Given the description of an element on the screen output the (x, y) to click on. 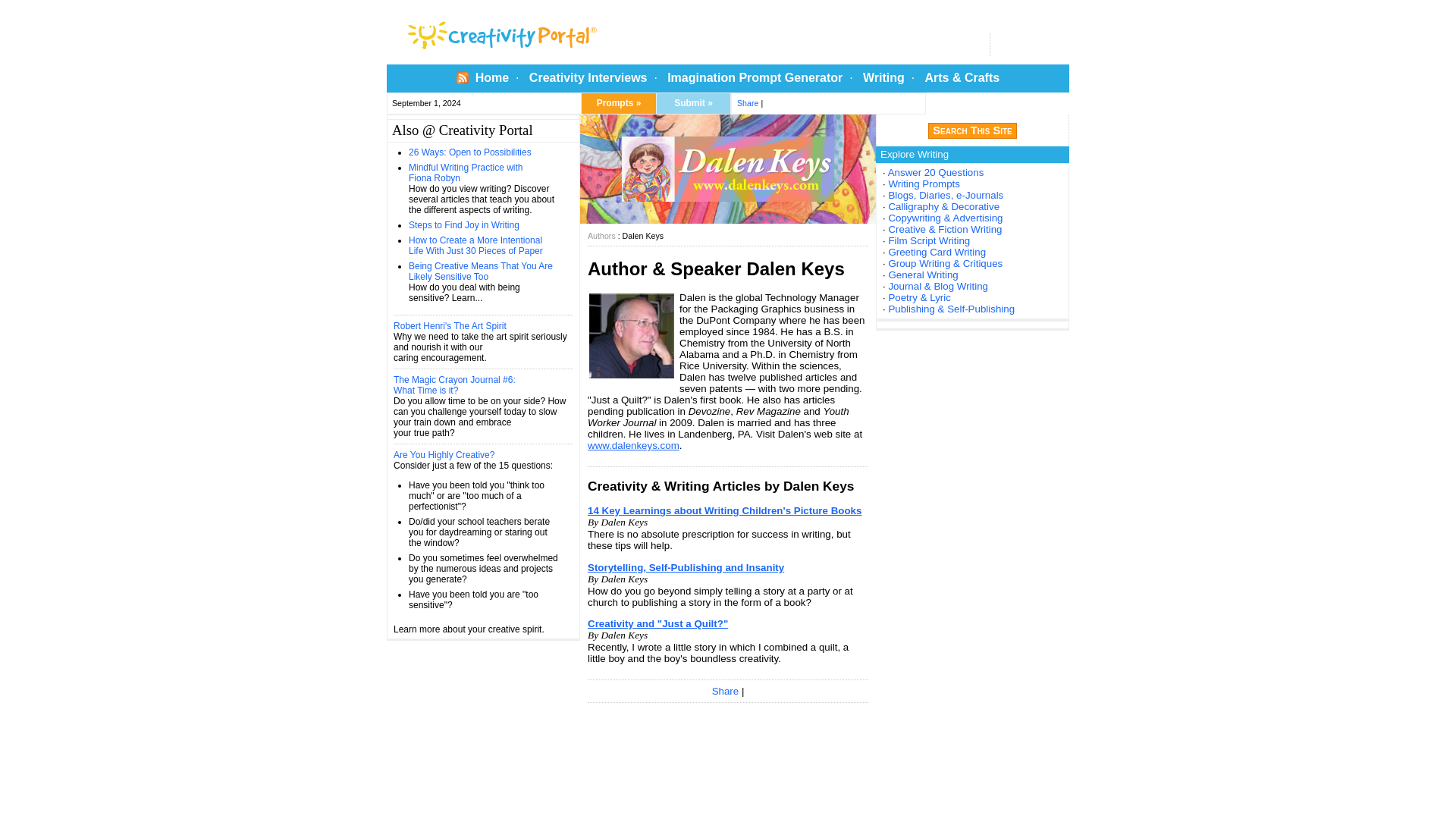
Writing Prompts (923, 183)
Storytelling, Self-Publishing and Insanity (686, 567)
Creativity Portal (557, 32)
Blogs, Diaries, e-Journals (945, 194)
Are You Highly Creative? (444, 454)
26 Ways: Open to Possibilities (470, 152)
Mindful Writing Practice with Fiona Robyn (465, 172)
14 Key Learnings about Writing Children's Picture Books (724, 510)
Robert Henri's The Art Spirit (449, 326)
